Given the description of an element on the screen output the (x, y) to click on. 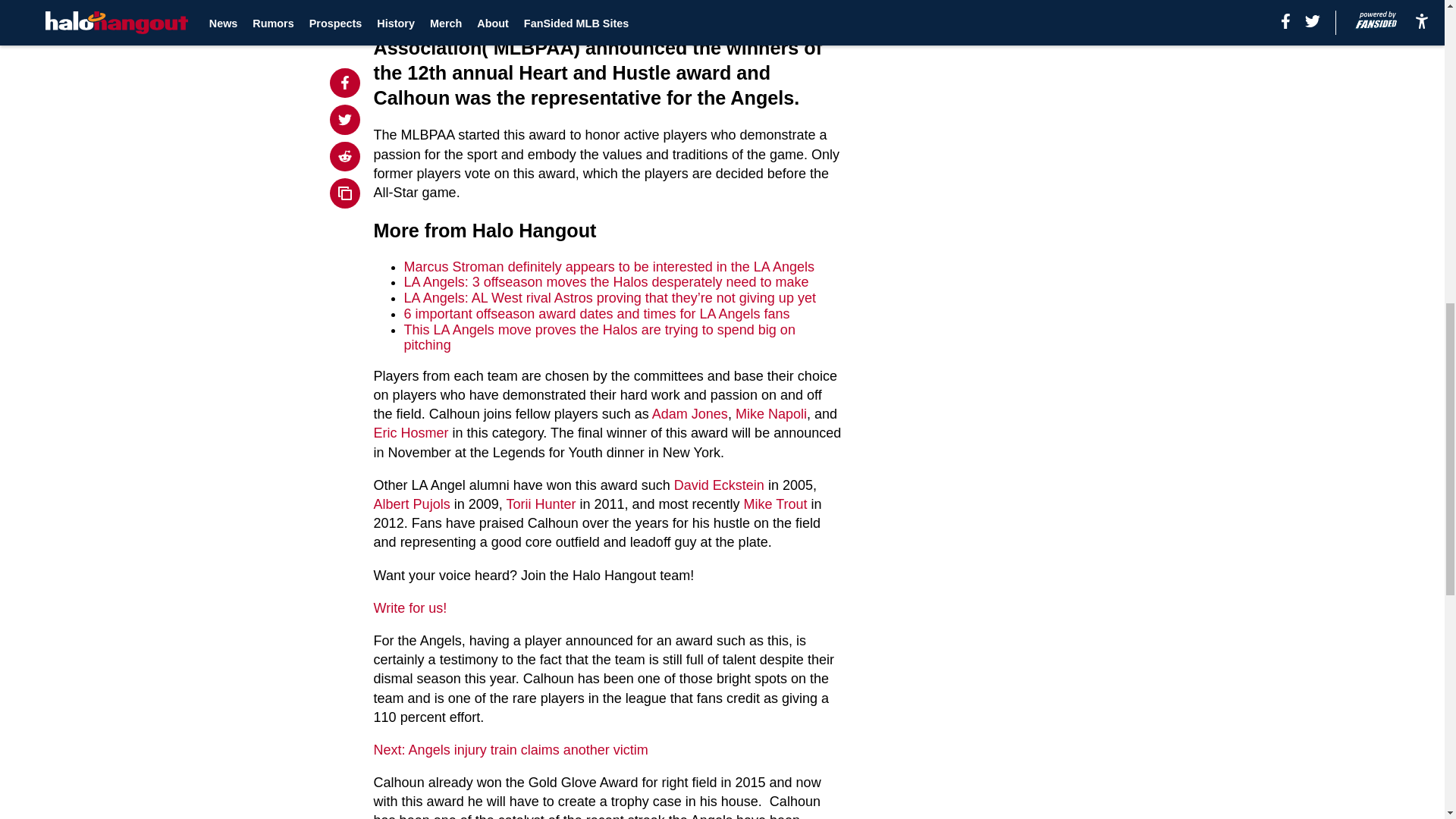
Eric Hosmer (411, 432)
David Eckstein (719, 485)
Adam Jones (690, 413)
Mike Napoli (770, 413)
Albert Pujols (411, 503)
